Given the description of an element on the screen output the (x, y) to click on. 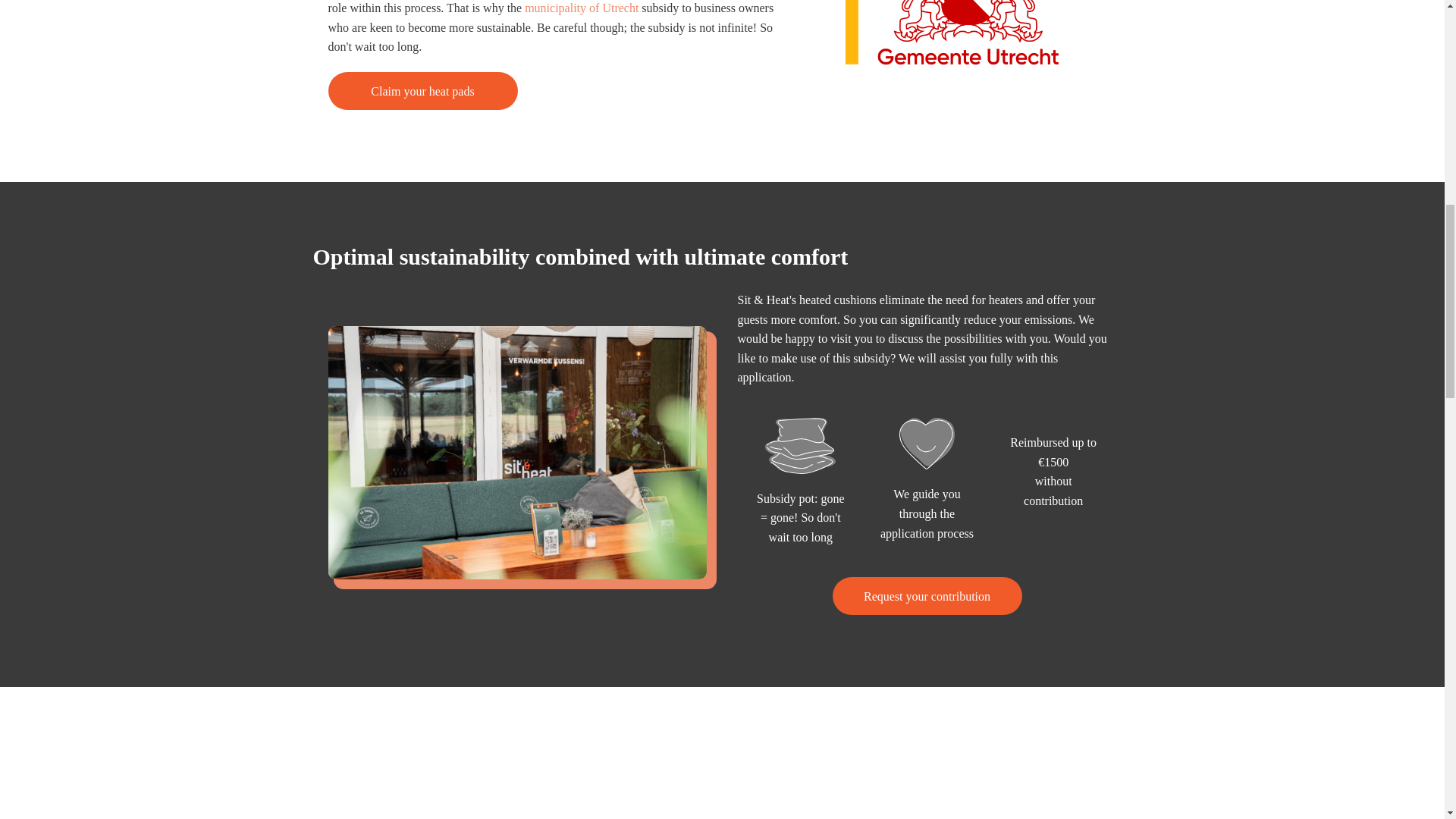
municipality of Utrecht (581, 9)
Claim your heat pads (421, 90)
Request your contribution (927, 596)
